Given the description of an element on the screen output the (x, y) to click on. 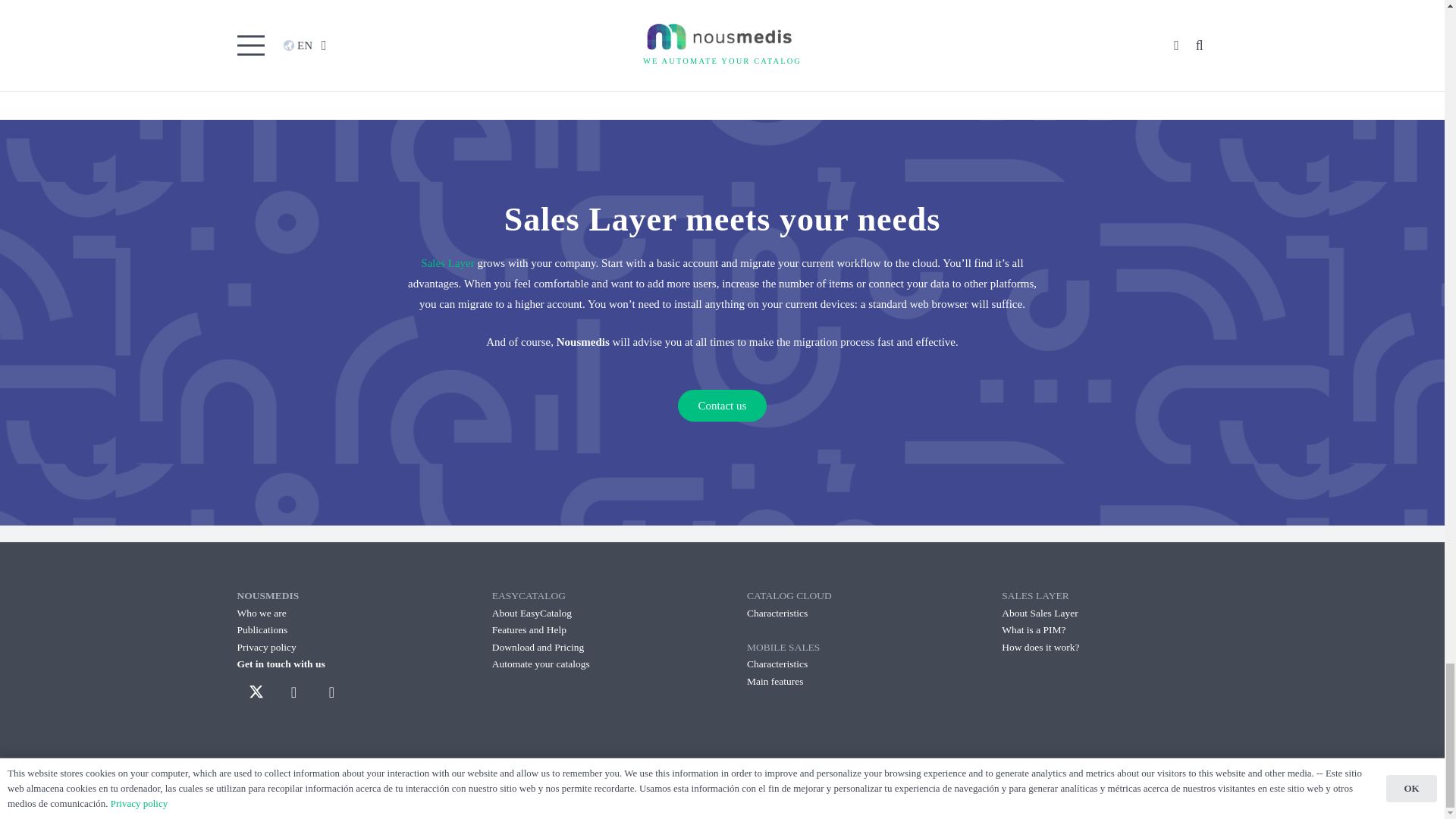
Contact us (722, 405)
Sales Layer (998, 5)
Sales Layer (447, 263)
Contact us (722, 405)
